Given the description of an element on the screen output the (x, y) to click on. 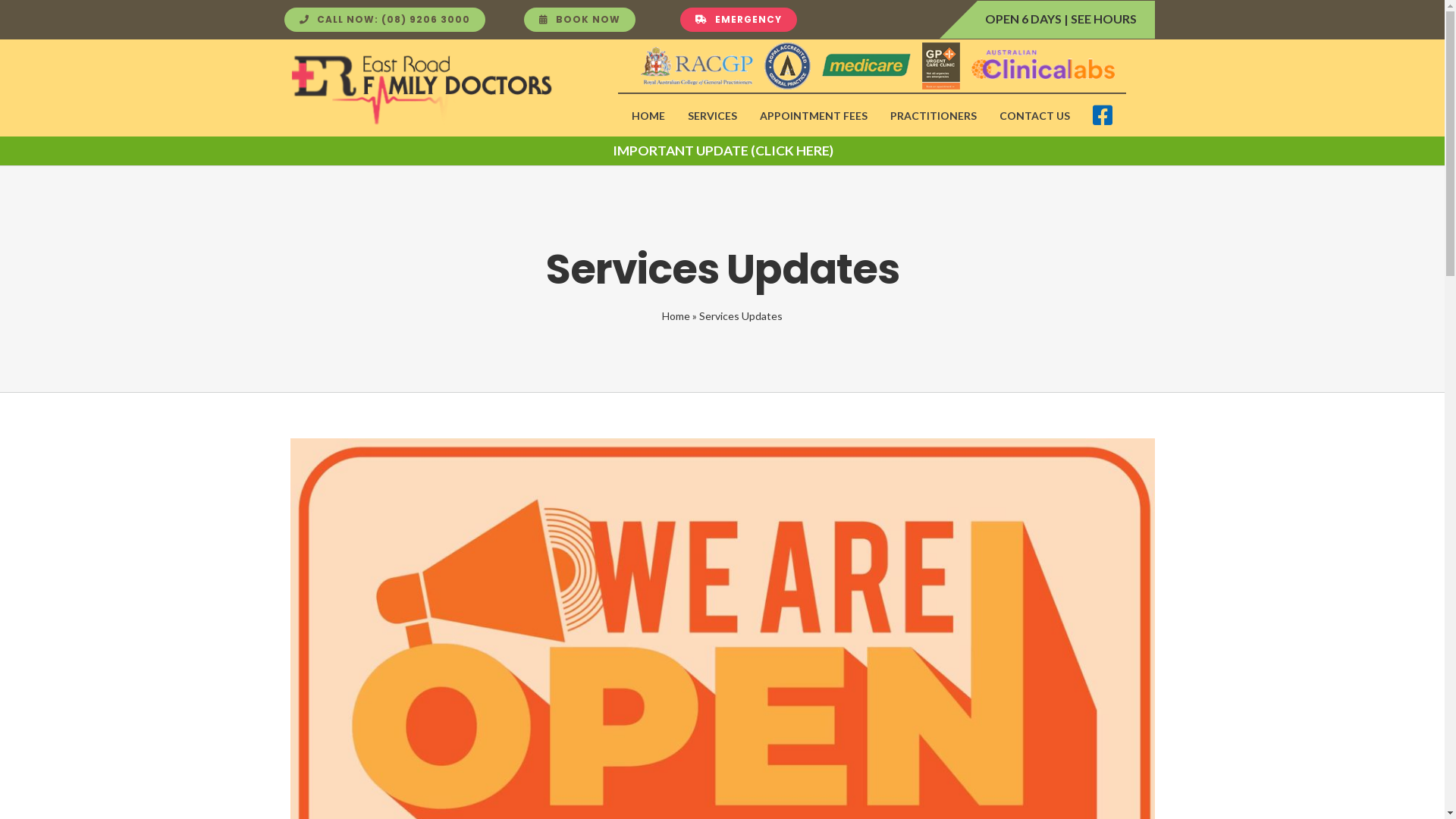
AGPAL Element type: hover (787, 65)
SERVICES Element type: text (712, 115)
HOME Element type: text (648, 115)
EMERGENCY Element type: text (738, 19)
CALL NOW: (08) 9206 3000 Element type: text (384, 19)
OPEN 6 DAYS | SEE HOURS Element type: text (1060, 18)
Home Element type: text (676, 315)
CONTACT US Element type: text (1034, 115)
PRACTITIONERS Element type: text (933, 115)
BOOK NOW Element type: text (579, 19)
RACGP Logo Element type: hover (696, 65)
Clinicallabs Element type: hover (1042, 64)
IMPORTANT UPDATE (CLICK HERE) Element type: text (722, 150)
Medicare_new Element type: hover (866, 64)
APPOINTMENT FEES Element type: text (813, 115)
GP-Urgent-Care Element type: hover (941, 65)
